Given the description of an element on the screen output the (x, y) to click on. 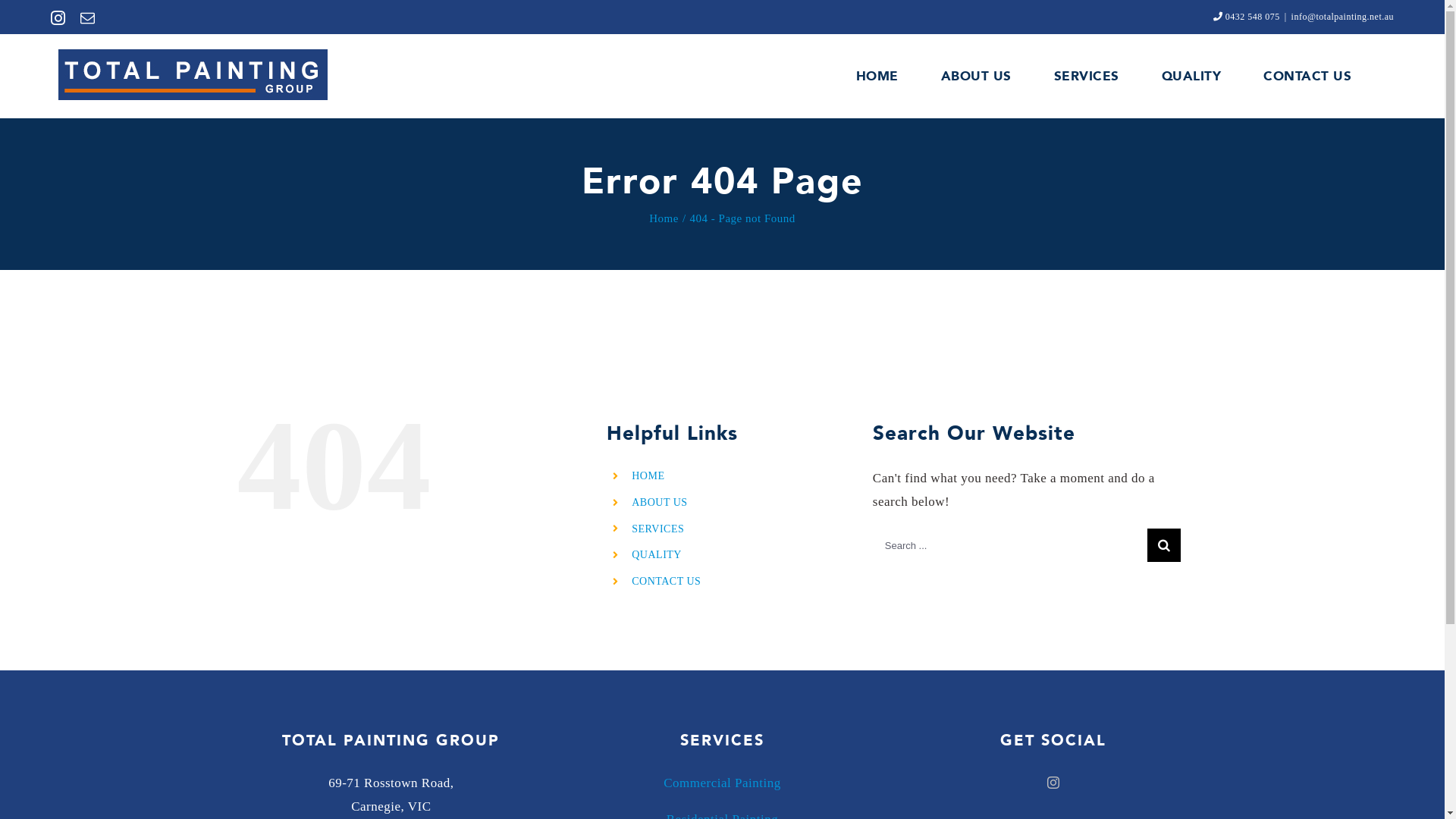
HOME Element type: text (877, 75)
SERVICES Element type: text (1086, 75)
ABOUT US Element type: text (659, 502)
Email Element type: text (87, 17)
Home Element type: text (663, 218)
SERVICES Element type: text (657, 528)
CONTACT US Element type: text (665, 580)
QUALITY Element type: text (656, 554)
QUALITY Element type: text (1191, 75)
ABOUT US Element type: text (976, 75)
CONTACT US Element type: text (1307, 75)
info@totalpainting.net.au Element type: text (1342, 16)
HOME Element type: text (647, 475)
Commercial Painting Element type: text (721, 782)
Instagram Element type: text (57, 17)
